Given the description of an element on the screen output the (x, y) to click on. 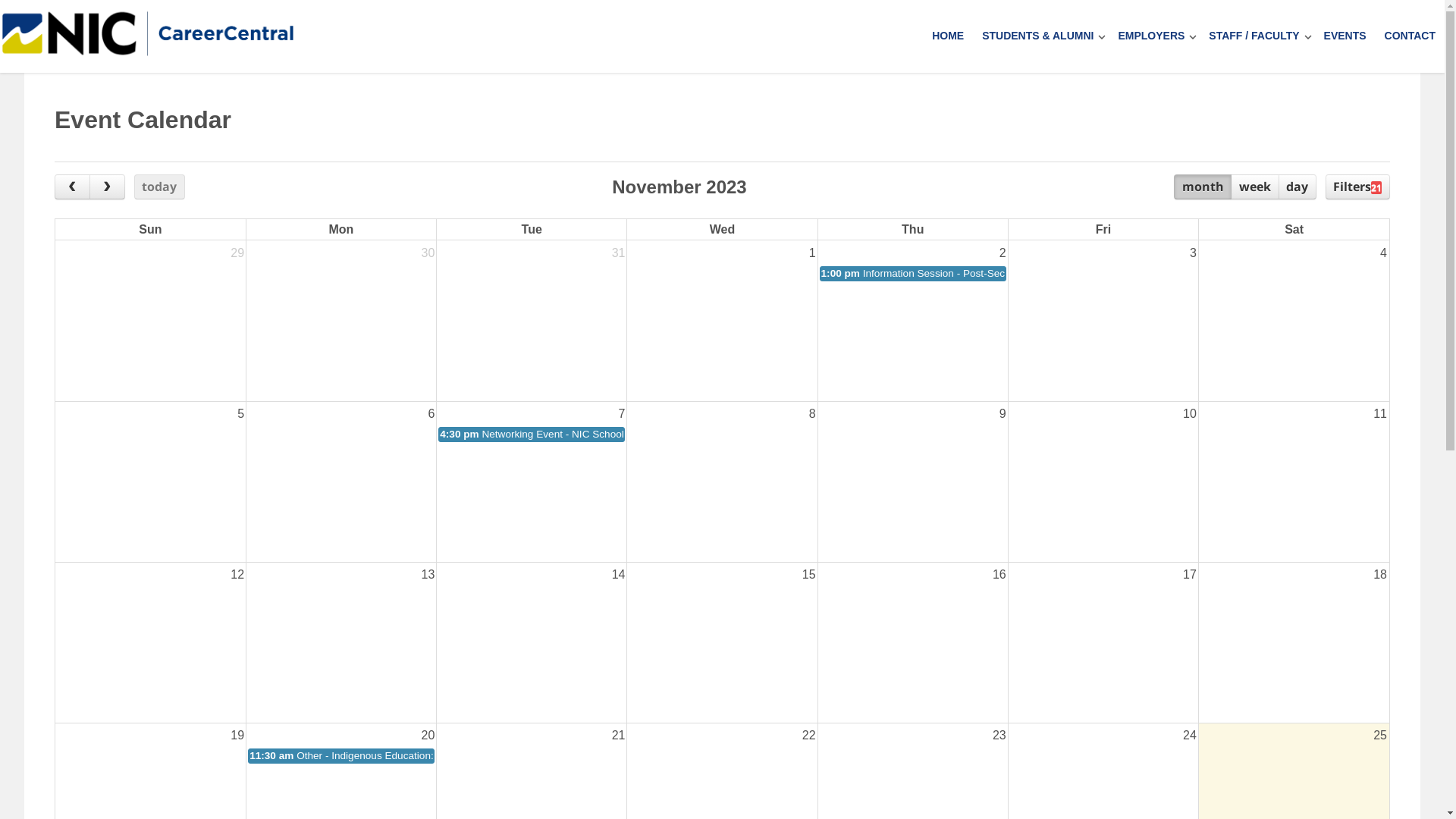
day Element type: text (1297, 187)
today Element type: text (159, 187)
STAFF / FACULTY Element type: text (1249, 36)
STUDENTS & ALUMNI Element type: text (1033, 36)
keyboard_arrow_down Element type: text (1101, 36)
week Element type: text (1254, 187)
HOME Element type: text (947, 36)
EMPLOYERS Element type: text (1147, 36)
EVENTS Element type: text (1344, 36)
month Element type: text (1202, 187)
keyboard_arrow_down Element type: text (1192, 36)
CONTACT Element type: text (1409, 36)
Filters21 Element type: text (1357, 187)
keyboard_arrow_down Element type: text (1307, 36)
